Given the description of an element on the screen output the (x, y) to click on. 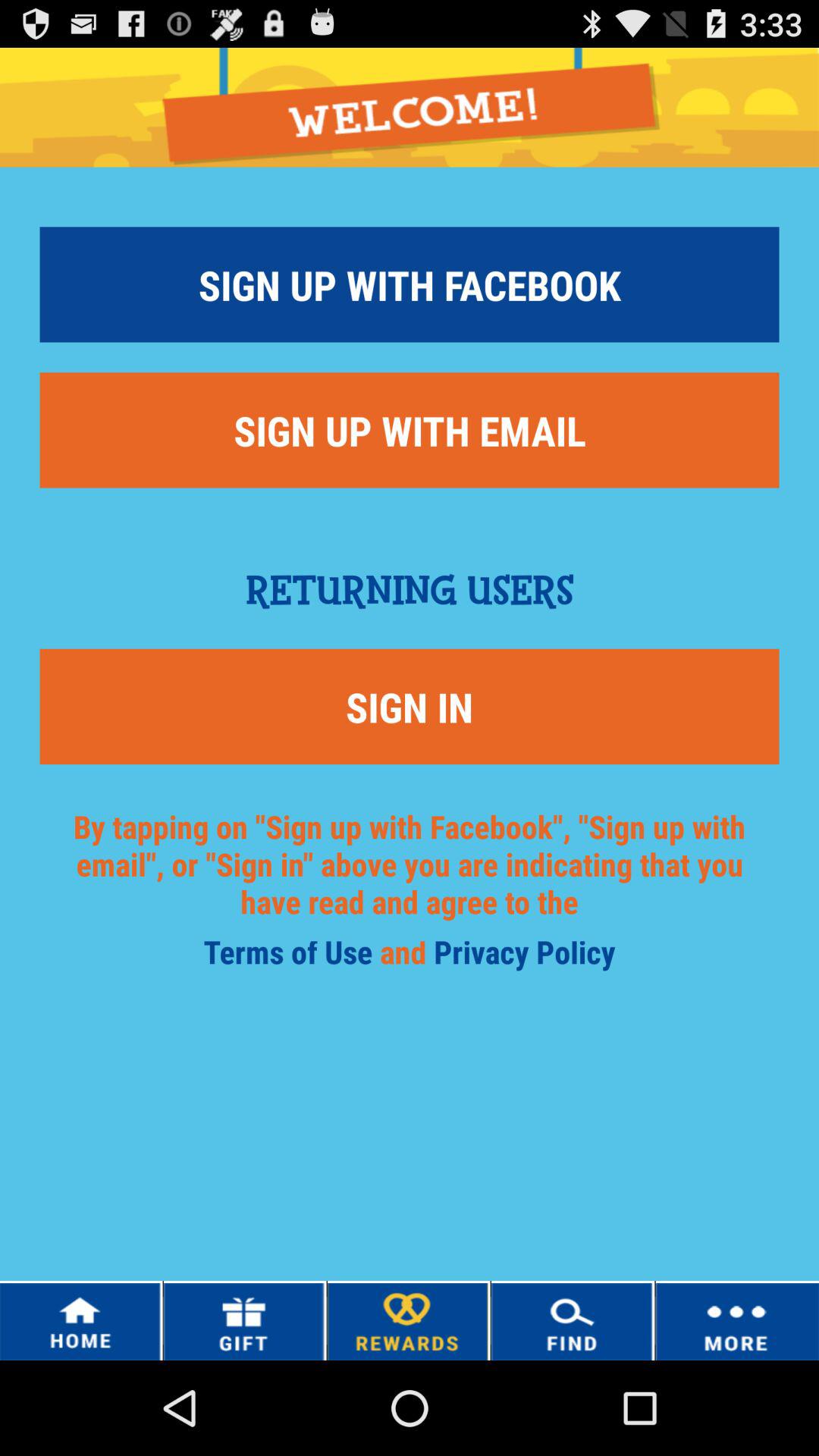
tap icon next to the and  icon (291, 957)
